Given the description of an element on the screen output the (x, y) to click on. 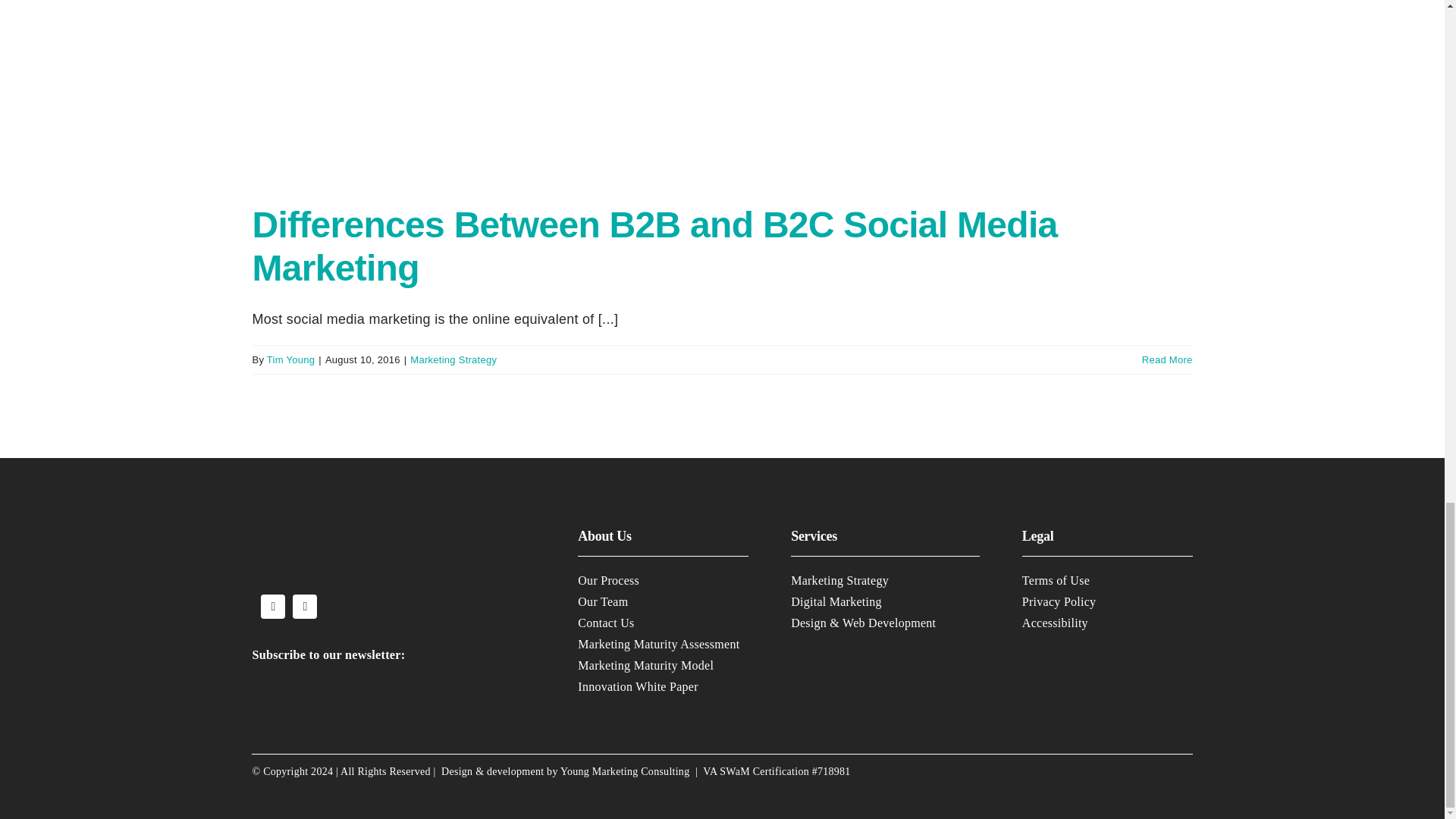
Posts by Tim Young (290, 359)
Differences Between B2B and B2C Social Media Marketing (654, 246)
Our Team (602, 601)
Marketing Maturity Assessment (658, 644)
Marketing Maturity Model (645, 665)
LinkedIn (304, 606)
Tim Young (290, 359)
Read More (1166, 359)
Marketing Strategy (453, 359)
Our Process (608, 580)
